Given the description of an element on the screen output the (x, y) to click on. 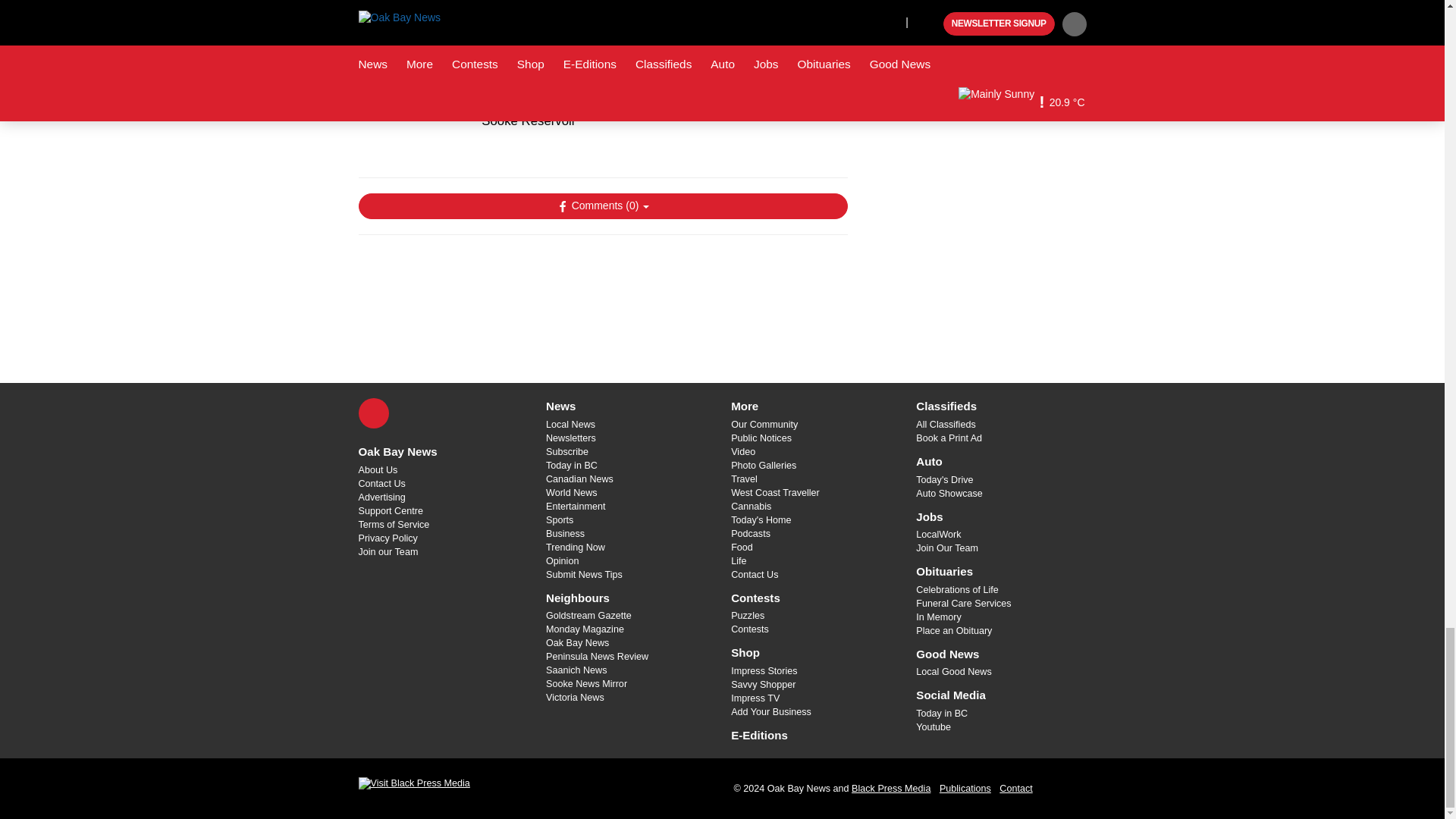
Show Comments (602, 206)
X (373, 413)
